Given the description of an element on the screen output the (x, y) to click on. 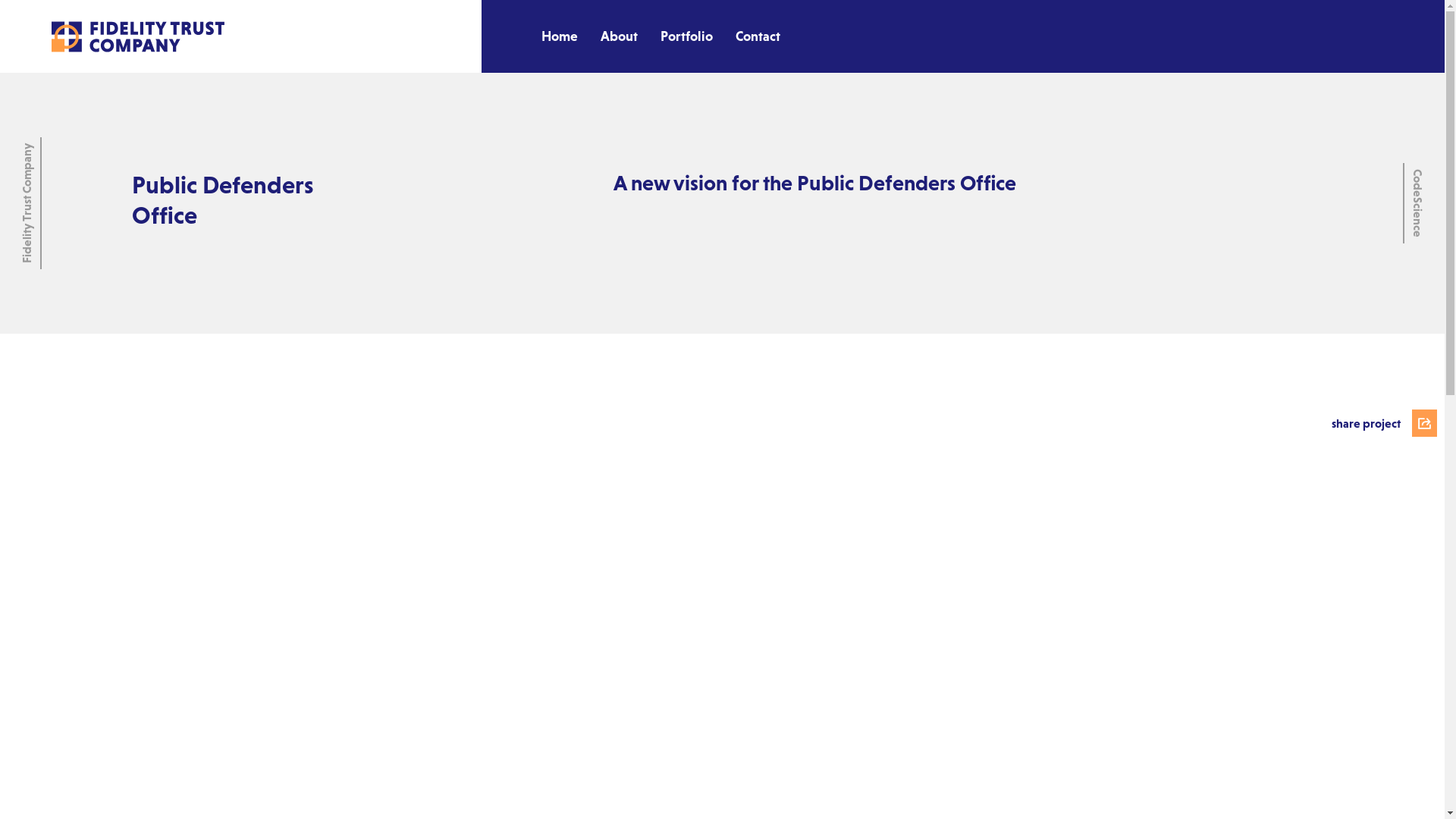
Contact Element type: text (757, 36)
Portfolio Element type: text (686, 36)
About Element type: text (618, 36)
Home Element type: text (559, 36)
